Given the description of an element on the screen output the (x, y) to click on. 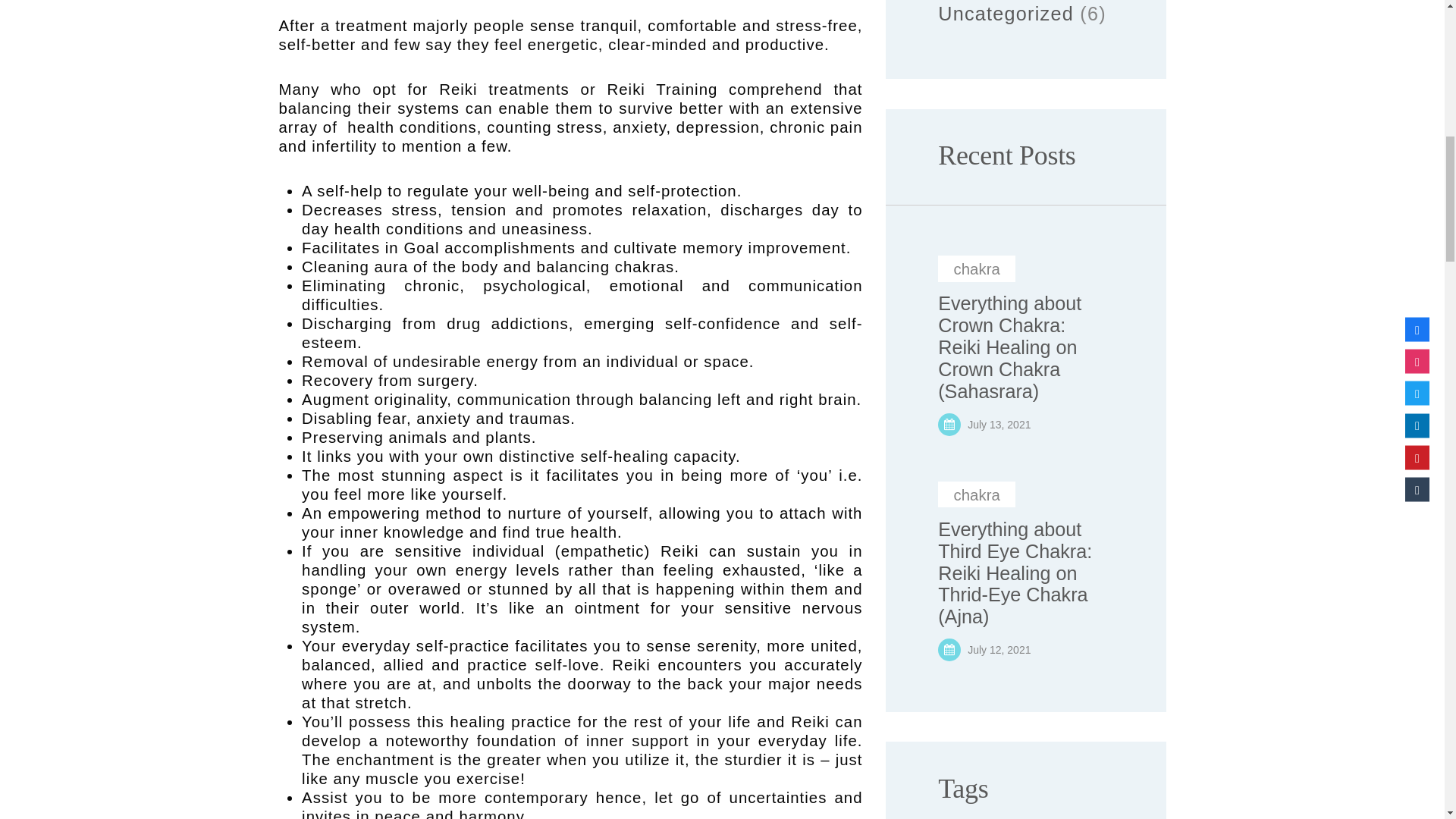
View all posts in Chakra (975, 494)
View all posts in Chakra (975, 268)
